Given the description of an element on the screen output the (x, y) to click on. 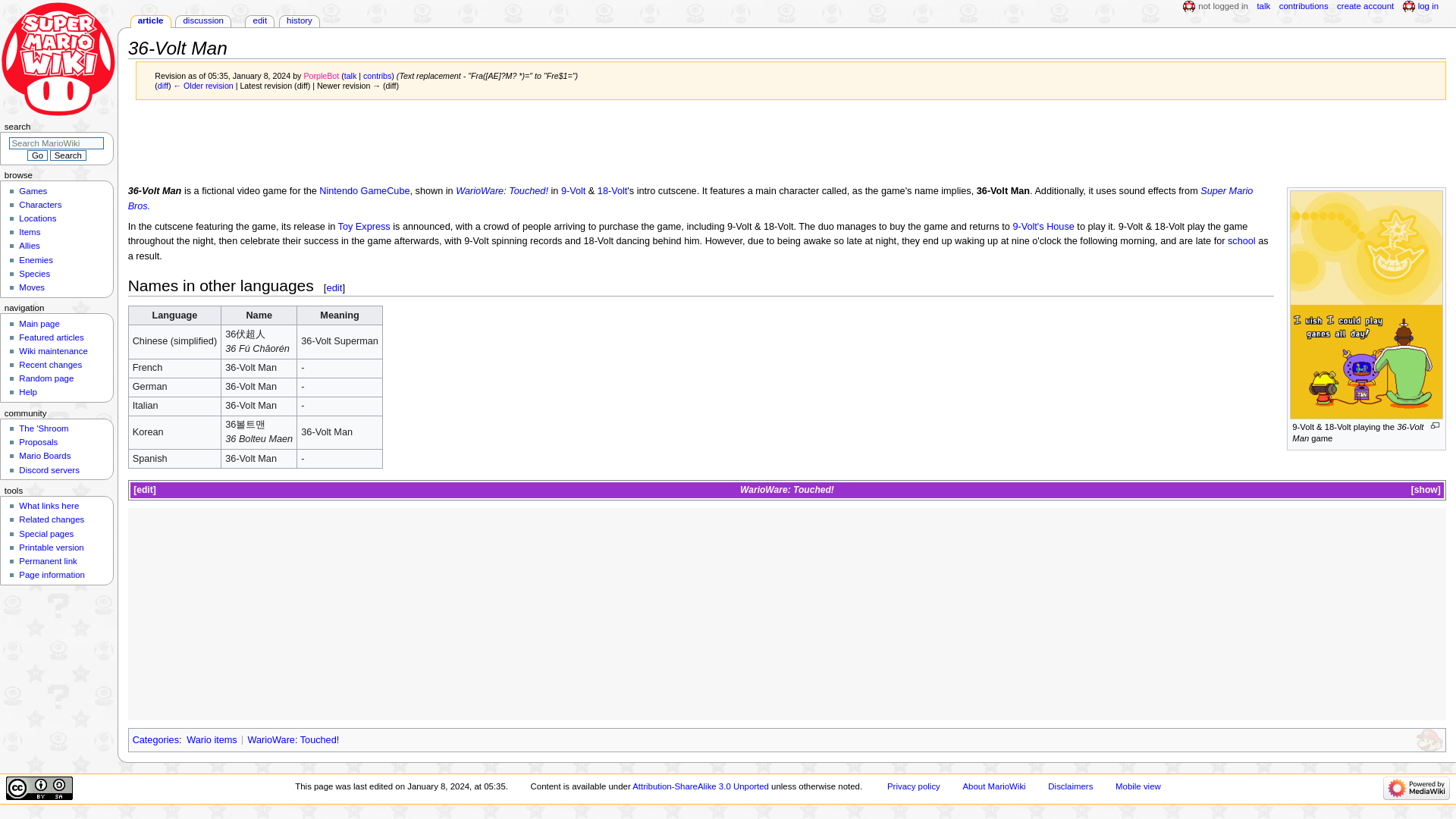
show (1425, 489)
Super Mario Bros. (690, 197)
Super Mario Bros. (690, 197)
diff (162, 85)
36-Volt Man (202, 85)
WarioWare: Touched! (786, 489)
PorpleBot (320, 75)
Search (67, 154)
Toy Express (363, 226)
9-Volt (572, 190)
WarioWare: Touched! (786, 489)
9-Volt's House (1042, 226)
edit (334, 287)
18-Volt (611, 190)
